Given the description of an element on the screen output the (x, y) to click on. 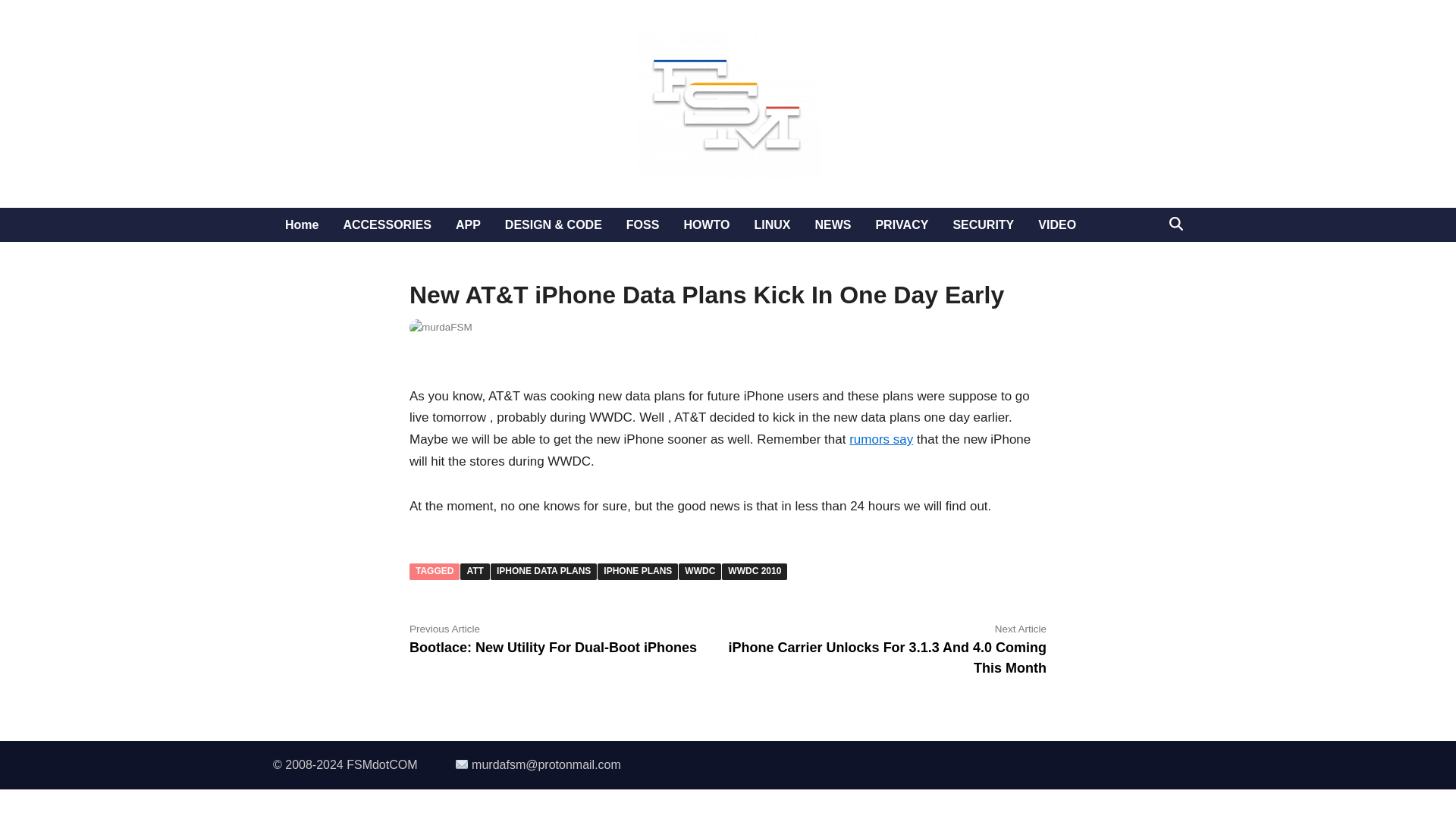
FOSS (642, 224)
IPHONE DATA PLANS (543, 571)
PRIVACY (901, 224)
APP (468, 224)
LINUX (771, 224)
NEWS (832, 224)
WWDC 2010 (754, 571)
ATT (474, 571)
rumors say (880, 439)
Home (301, 224)
WWDC (699, 571)
HOWTO (706, 224)
IPHONE PLANS (637, 571)
